Given the description of an element on the screen output the (x, y) to click on. 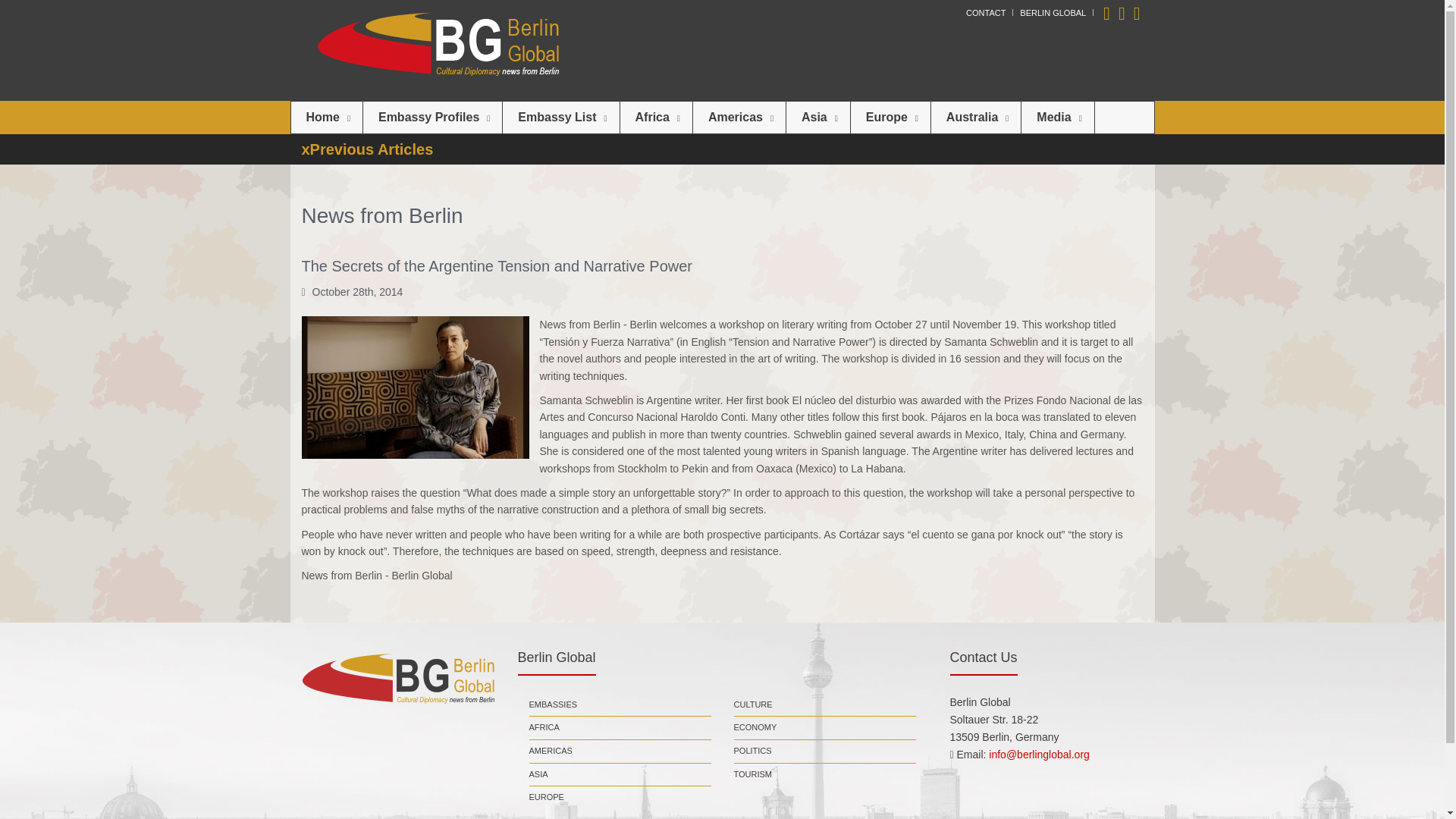
Europe (890, 116)
Flickr (1136, 12)
AFRICA (544, 727)
TOURISM (753, 774)
Facebook (1121, 12)
Home (326, 116)
Americas (739, 116)
Asia (818, 116)
EUROPE (546, 797)
Asia (818, 116)
Africa (656, 116)
Africa (656, 116)
Youtube (1107, 12)
CULTURE (753, 704)
BERLIN GLOBAL (1053, 12)
